Given the description of an element on the screen output the (x, y) to click on. 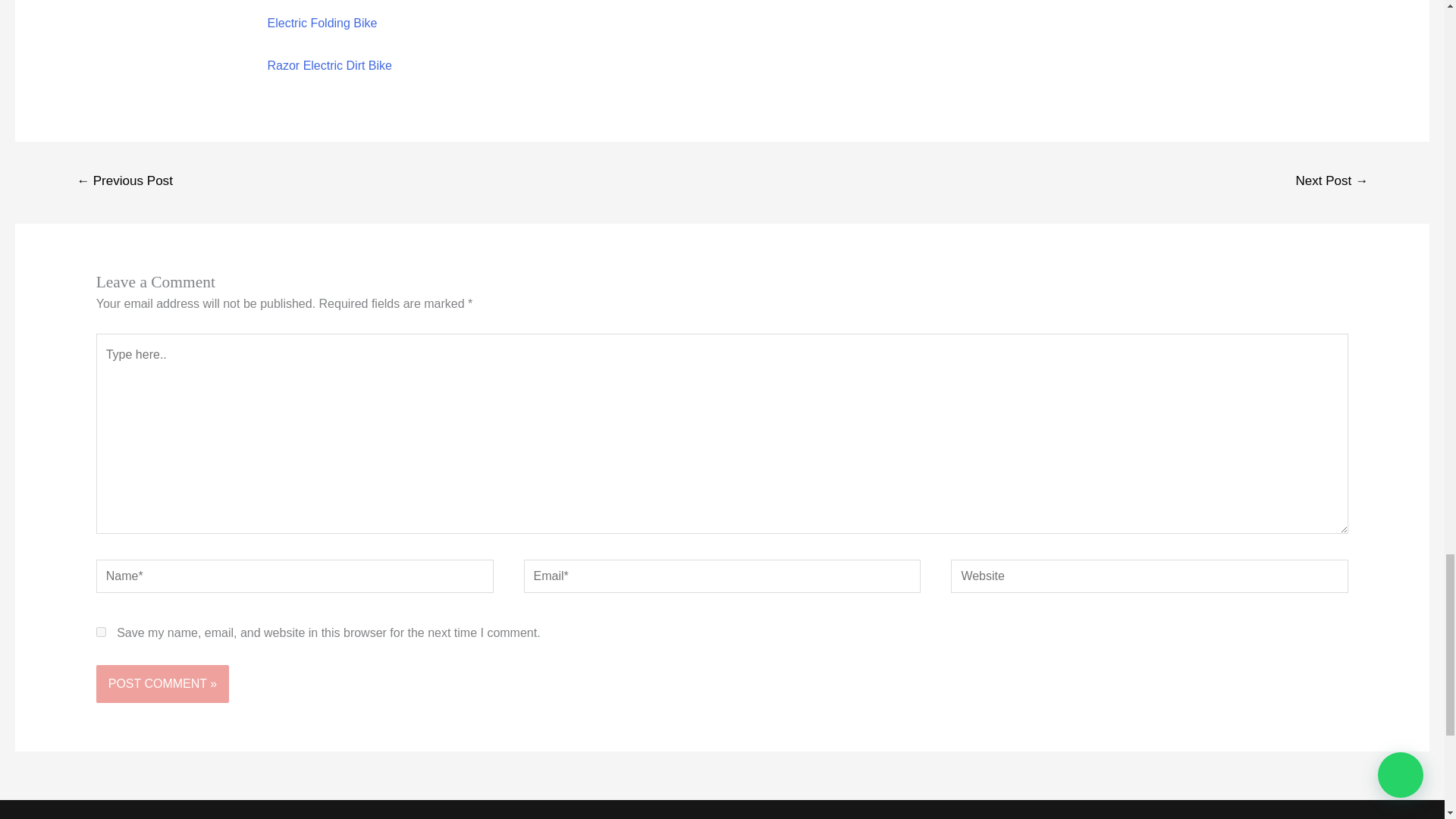
Electric Folding Bike (321, 22)
yes (101, 632)
Razor Electric Dirt Bike (328, 65)
